Given the description of an element on the screen output the (x, y) to click on. 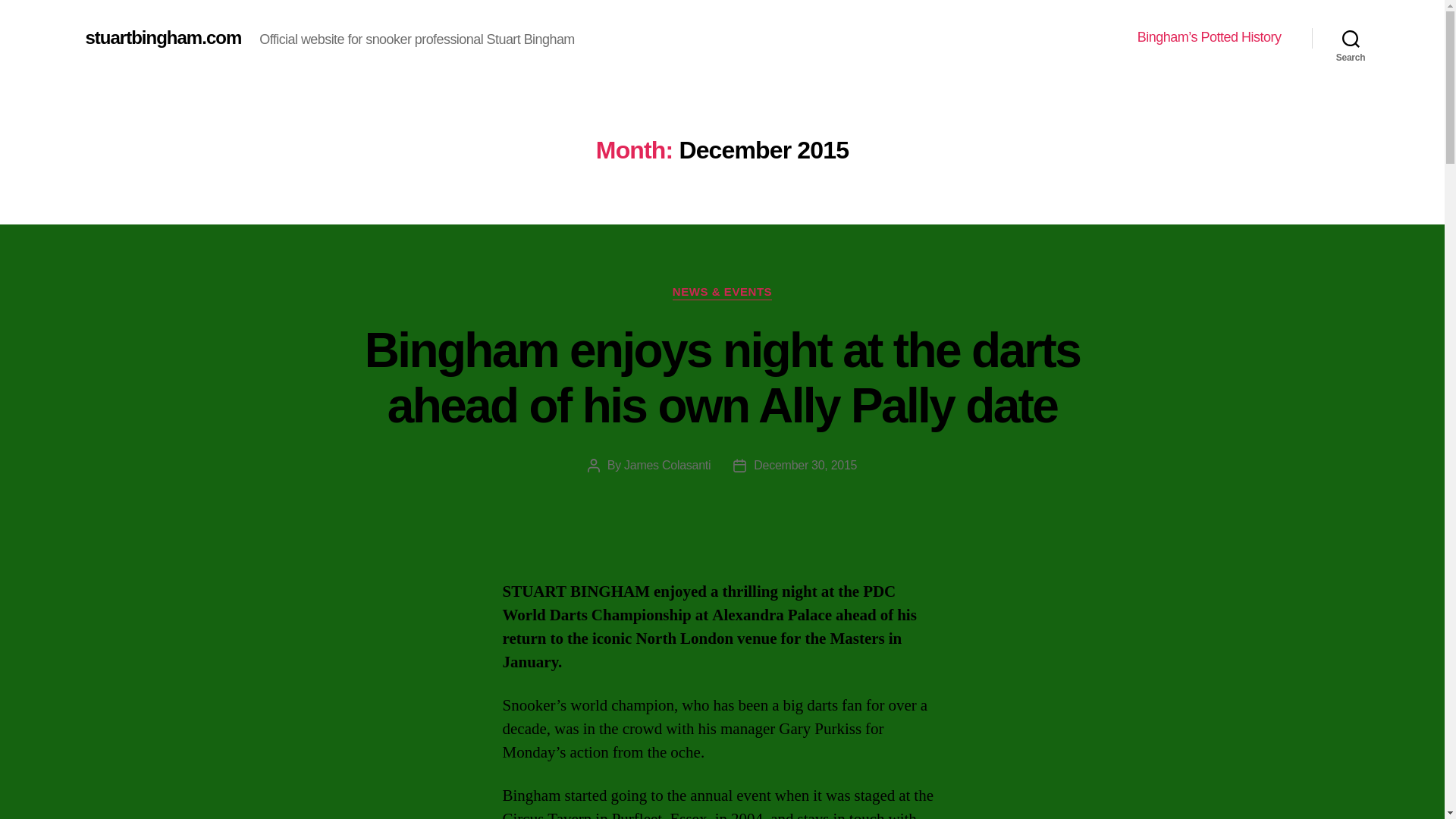
December 30, 2015 (805, 464)
stuartbingham.com (162, 37)
James Colasanti (667, 464)
Search (1350, 37)
